Given the description of an element on the screen output the (x, y) to click on. 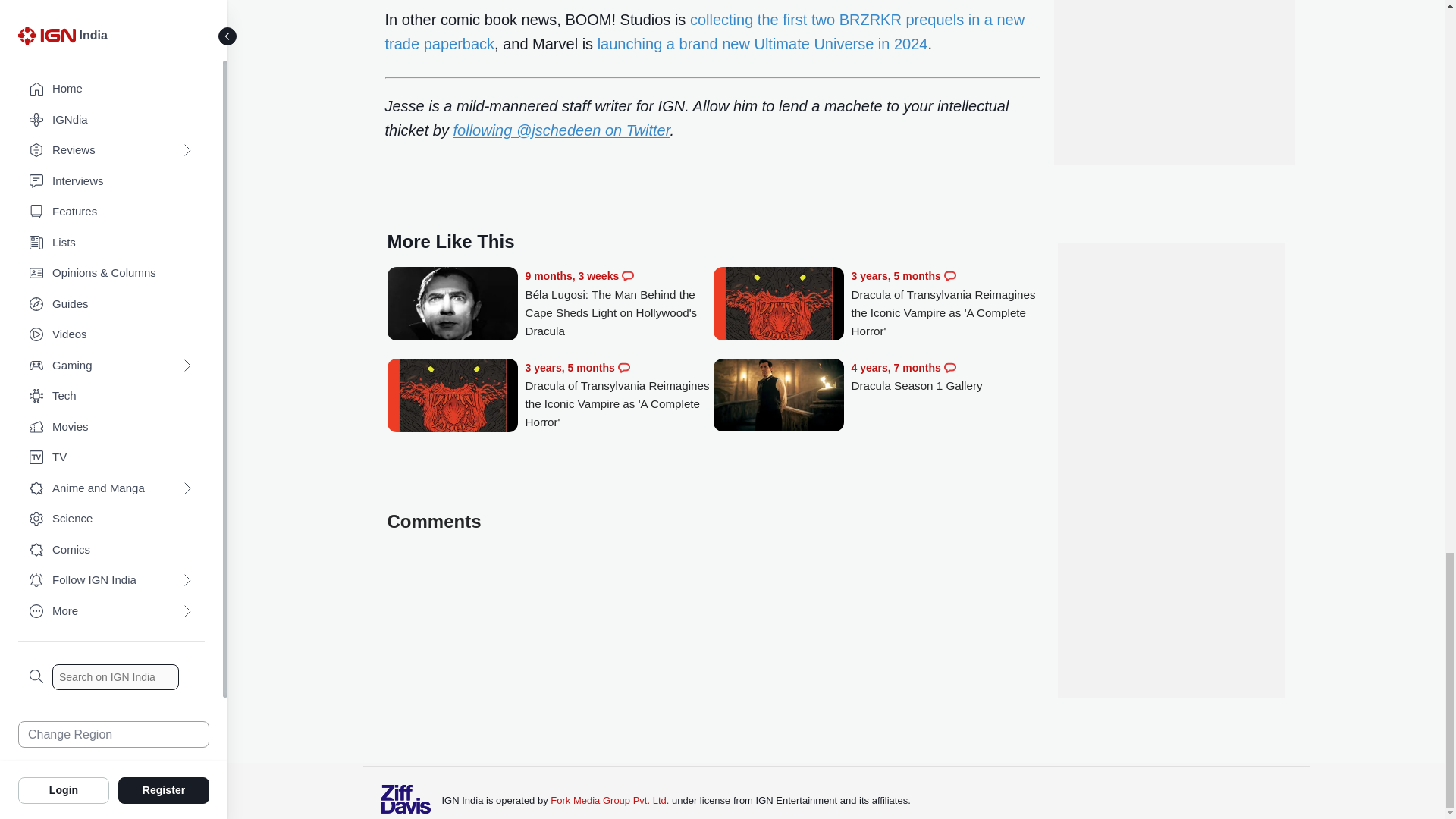
Dracula Season 1 Gallery (778, 396)
Dracula Season 1 Gallery (944, 376)
